Given the description of an element on the screen output the (x, y) to click on. 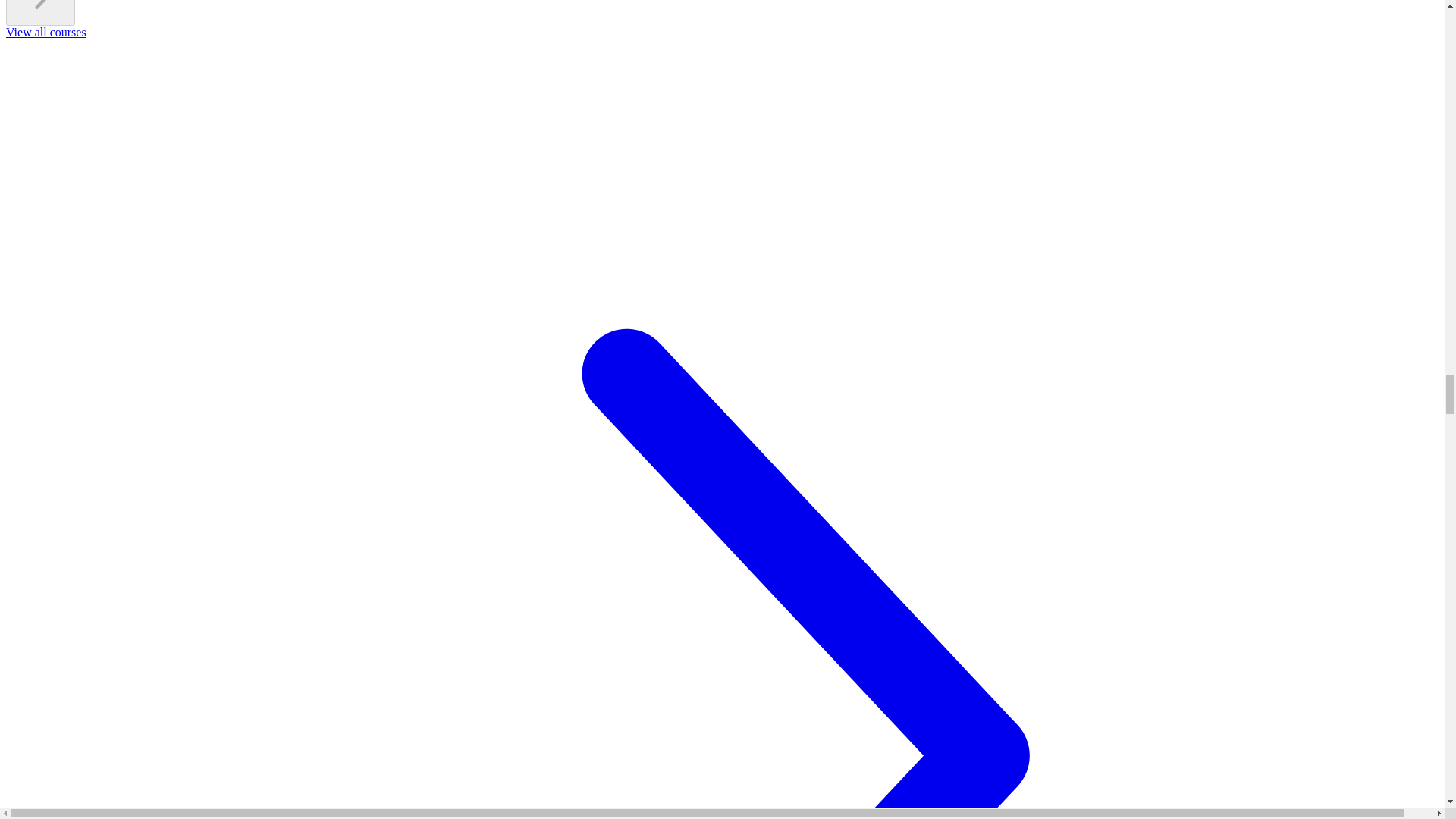
View Course (40, 12)
View Course (721, 12)
ChevronRight (40, 10)
